Given the description of an element on the screen output the (x, y) to click on. 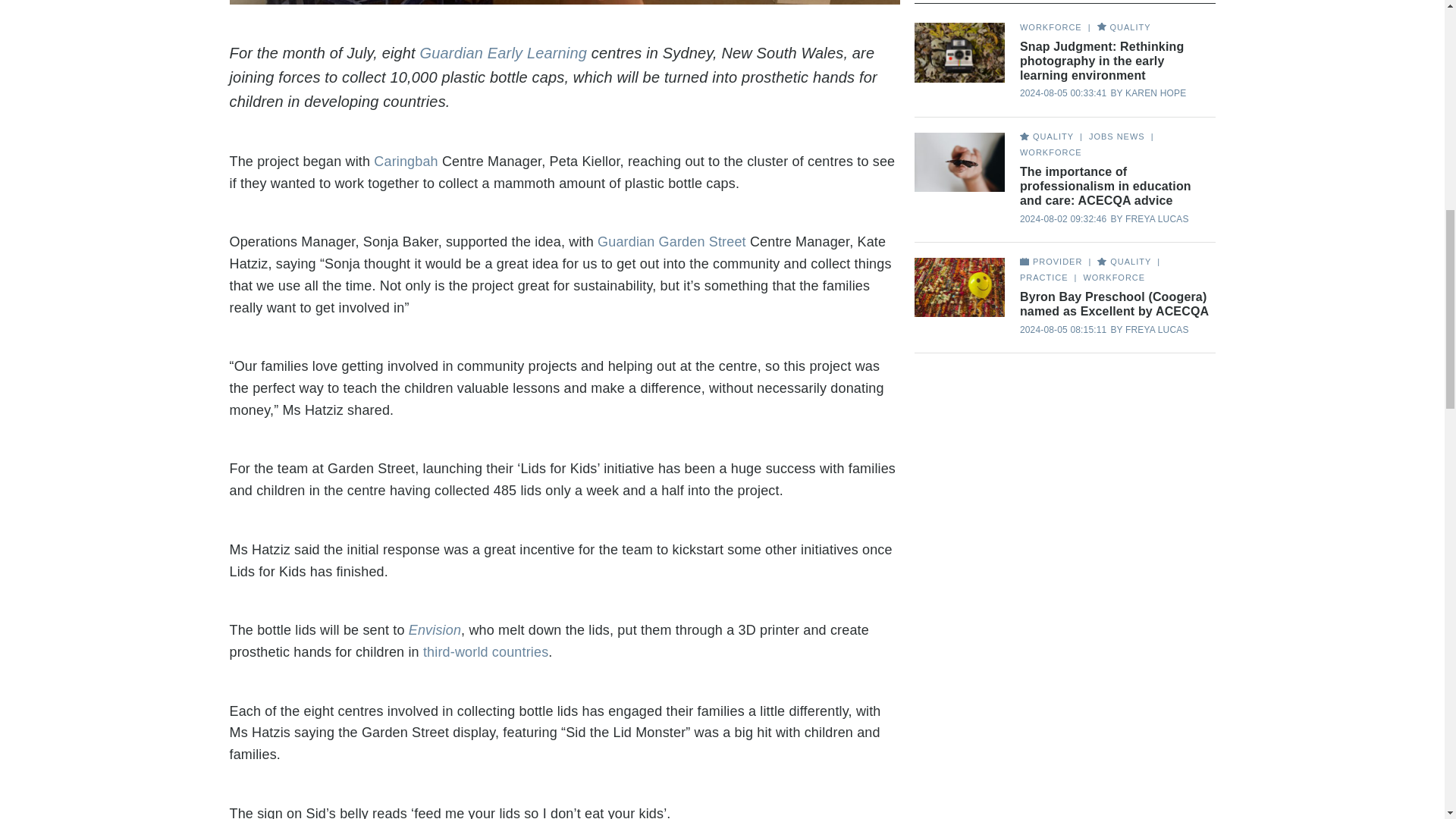
Envision (435, 630)
Guardian Garden Street (672, 241)
third-world countries (485, 652)
Guardian Early Learning (503, 53)
Caringbah (406, 160)
